Given the description of an element on the screen output the (x, y) to click on. 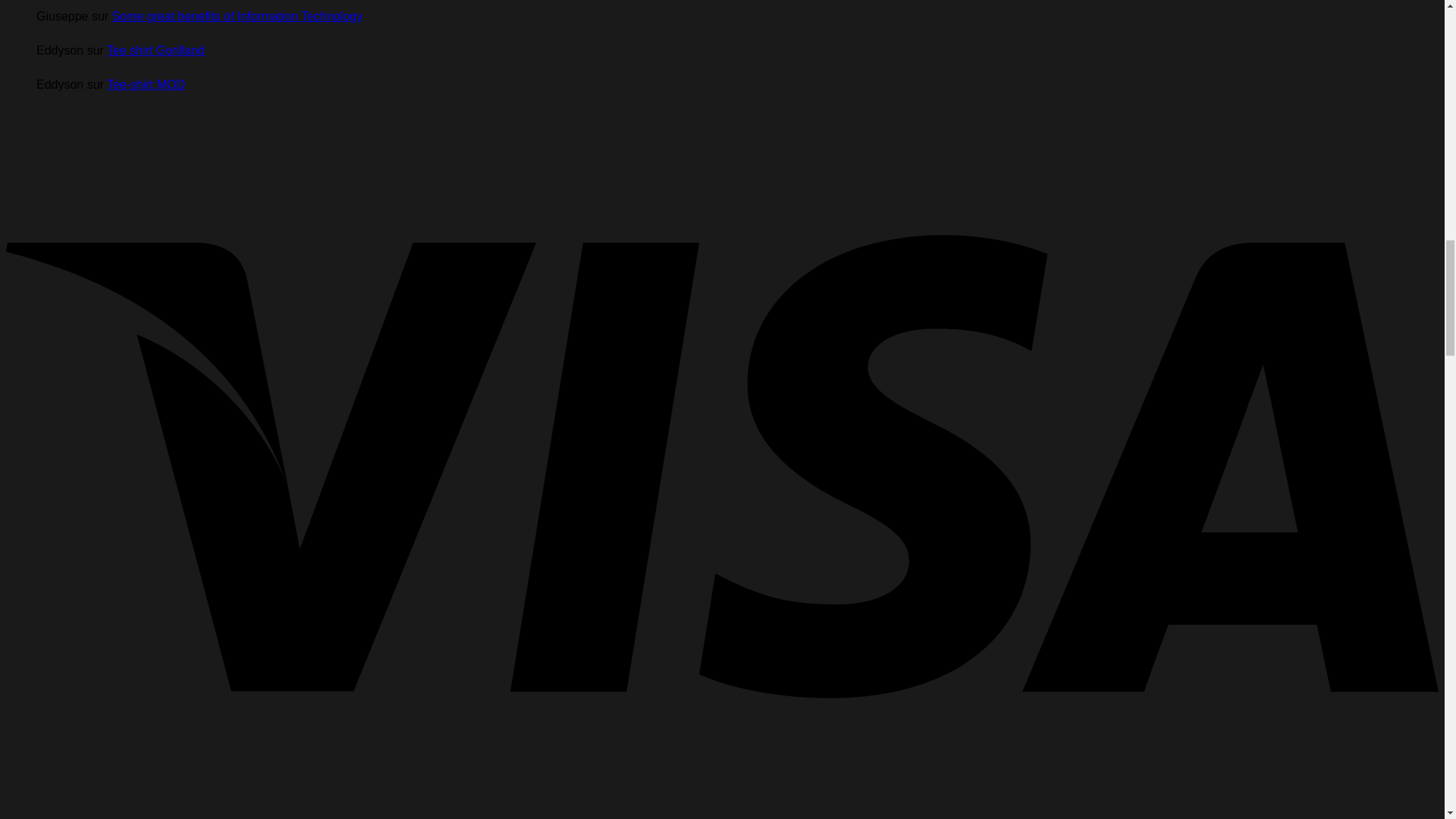
Some great benefits of Information Technology (237, 15)
